Given the description of an element on the screen output the (x, y) to click on. 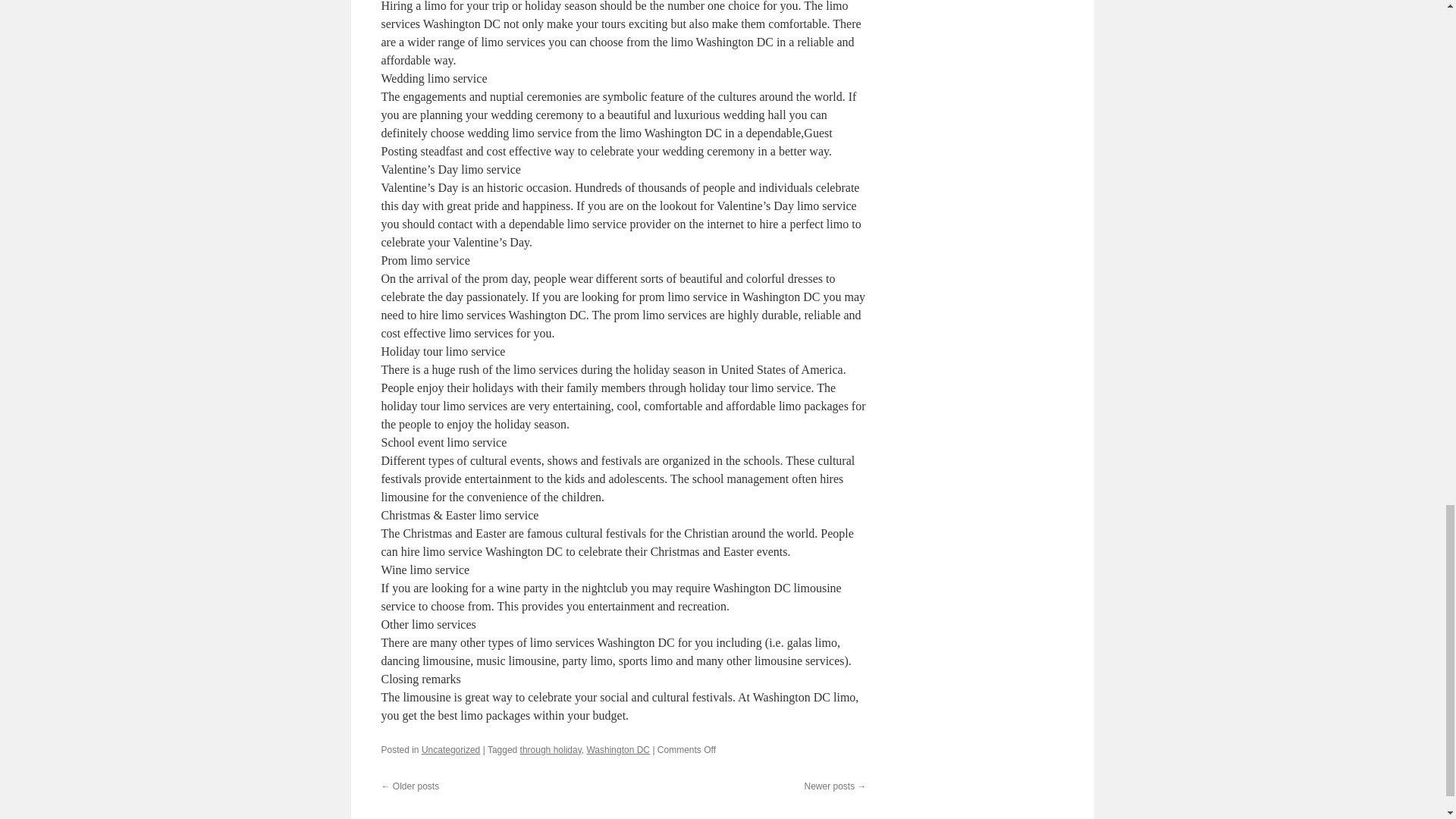
Washington DC (617, 749)
Uncategorized (451, 749)
through holiday (549, 749)
View all posts in Uncategorized (451, 749)
